Given the description of an element on the screen output the (x, y) to click on. 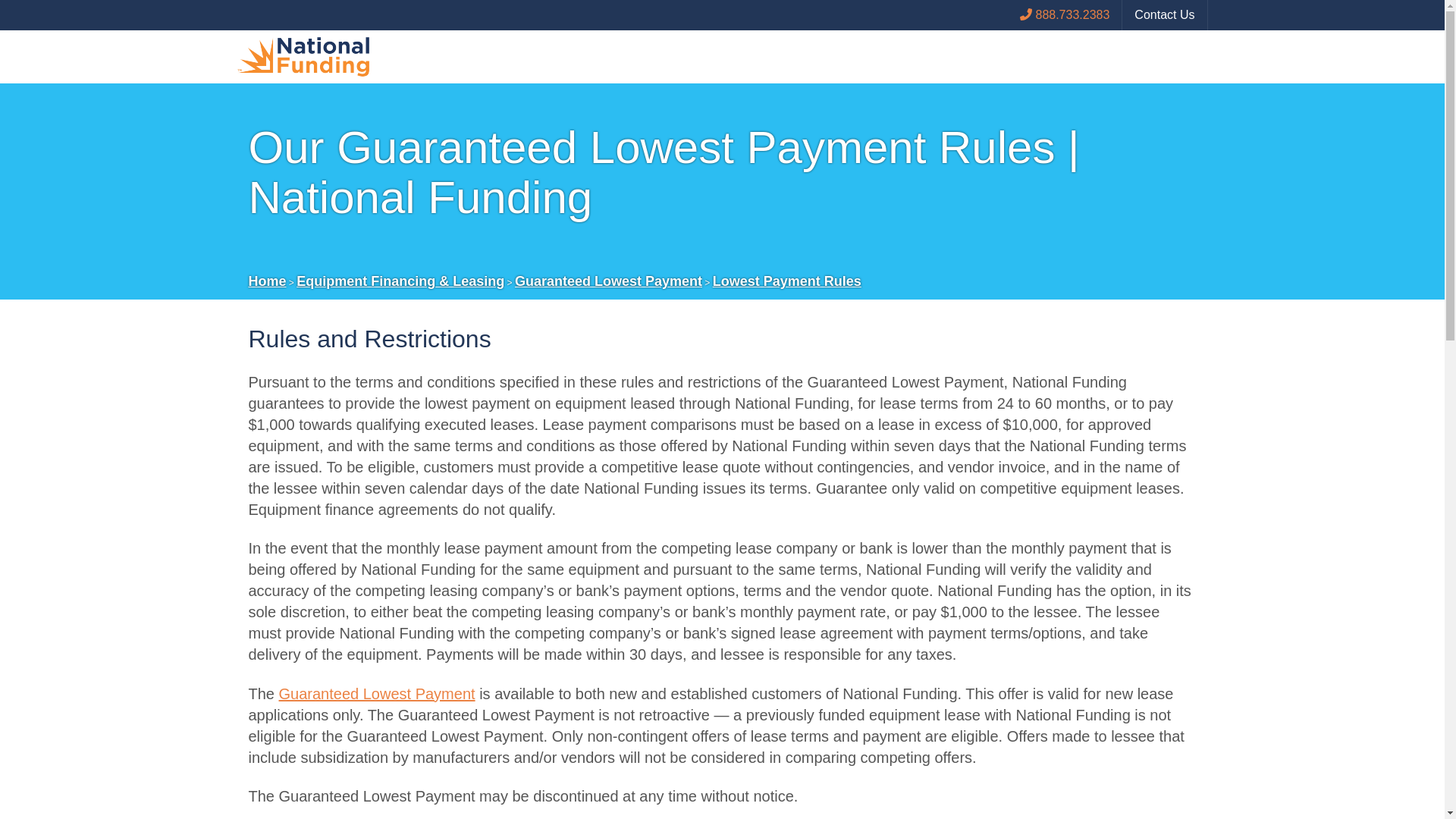
Contact Us (1164, 15)
 888.733.2383 (1064, 15)
Guaranteed Lowest Payment (608, 281)
Lowest Payment Rules (787, 281)
Guaranteed Lowest Payment (377, 693)
Home (267, 281)
